Given the description of an element on the screen output the (x, y) to click on. 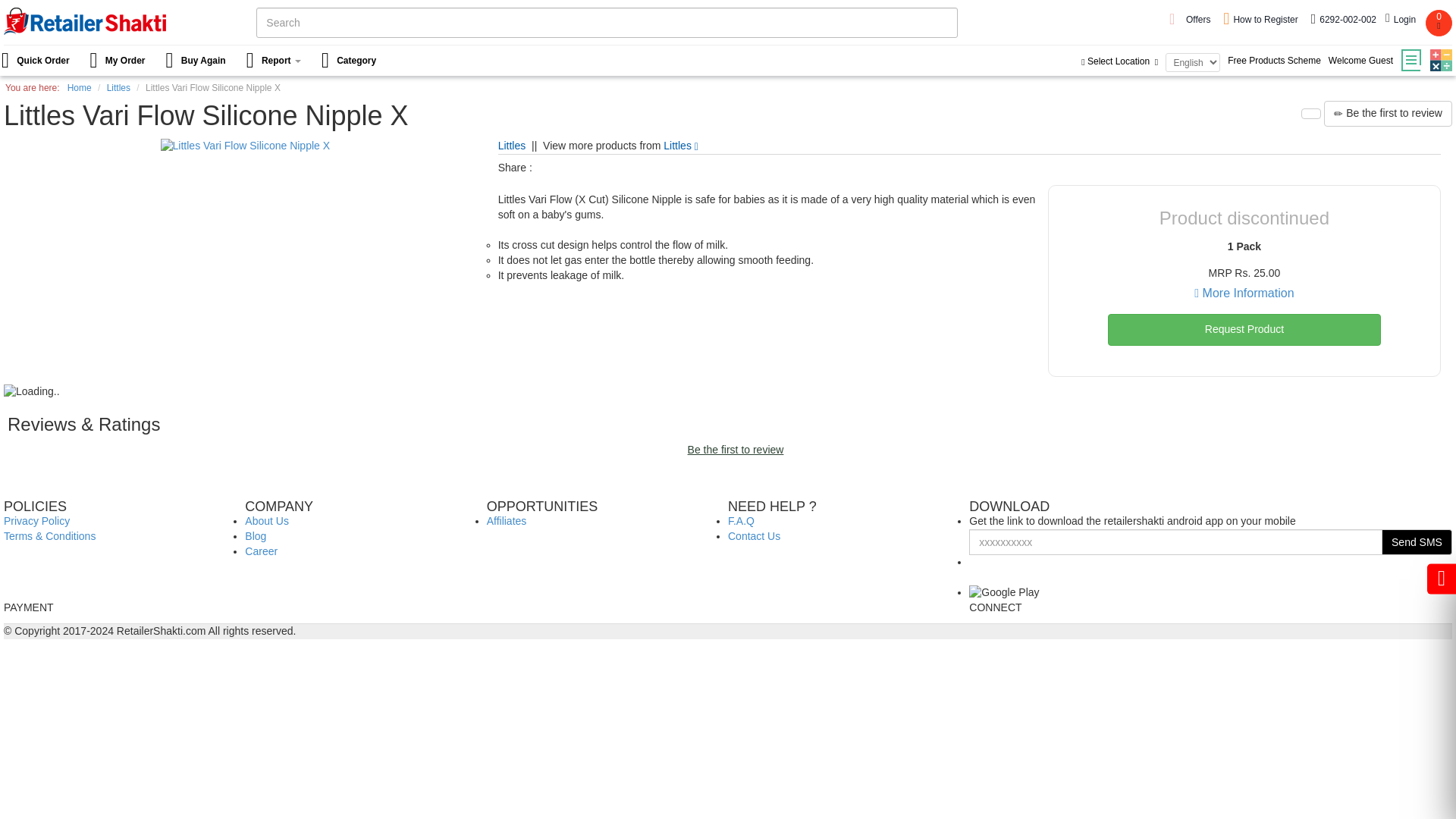
Littles (511, 145)
Retailer Shakti (84, 21)
Littles Vari Flow Silicone Nipple X (245, 145)
Category (350, 60)
Littles (511, 145)
Report (275, 60)
Offers (1199, 19)
6292-002-002 (1342, 19)
Quick Order (40, 60)
Littles (680, 145)
